Given the description of an element on the screen output the (x, y) to click on. 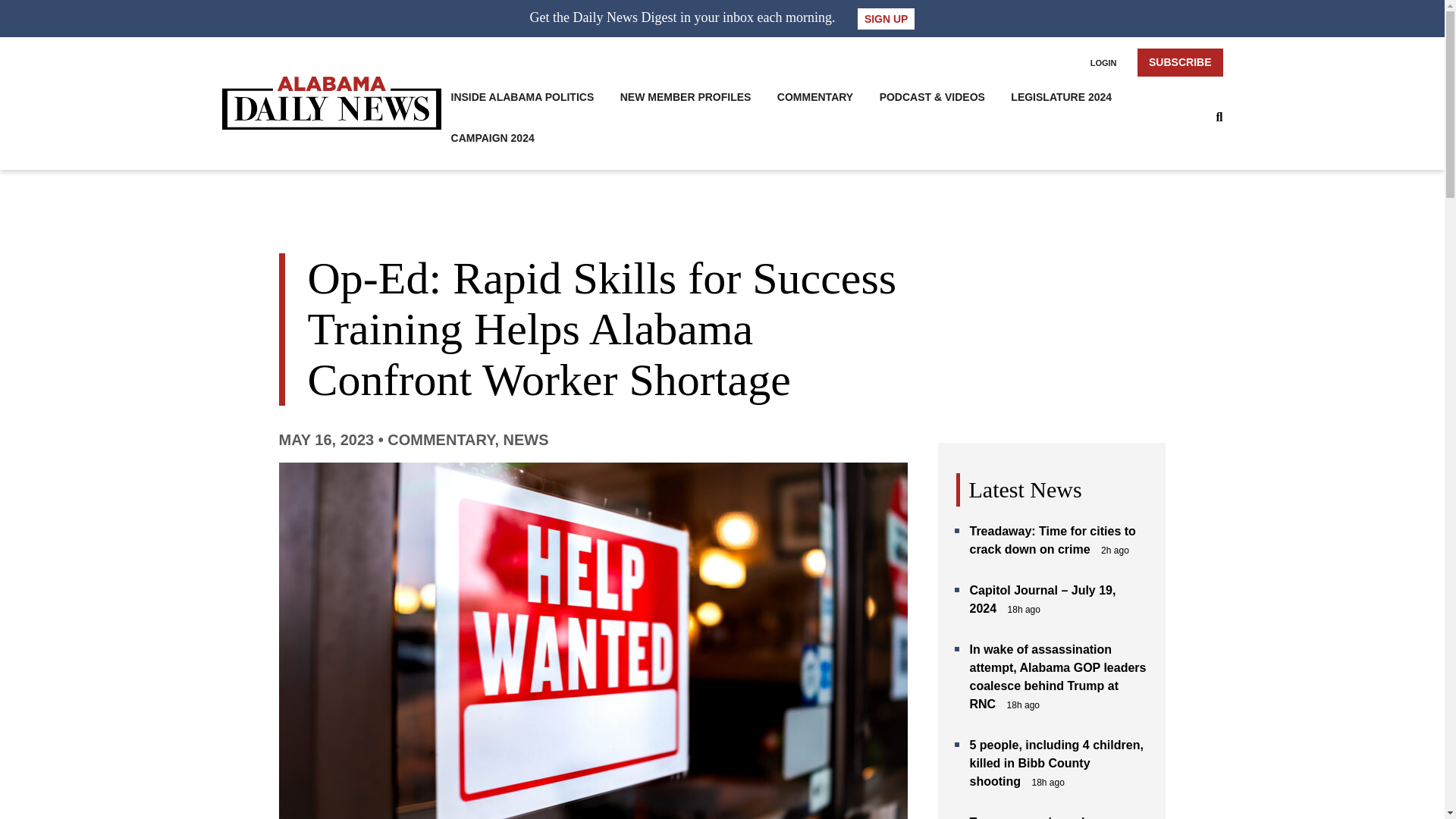
Treadaway: Time for cities to crack down on crime (1052, 540)
COMMENTARY (441, 439)
SUBSCRIBE (1180, 62)
INSIDE ALABAMA POLITICS (522, 96)
COMMENTARY (815, 96)
NEWS (525, 439)
Treadaway: Time for cities to crack down on crime (1052, 540)
Alabama Daily News (331, 102)
NEW MEMBER PROFILES (685, 96)
LOGIN (1103, 61)
SIGN UP (886, 18)
